Given the description of an element on the screen output the (x, y) to click on. 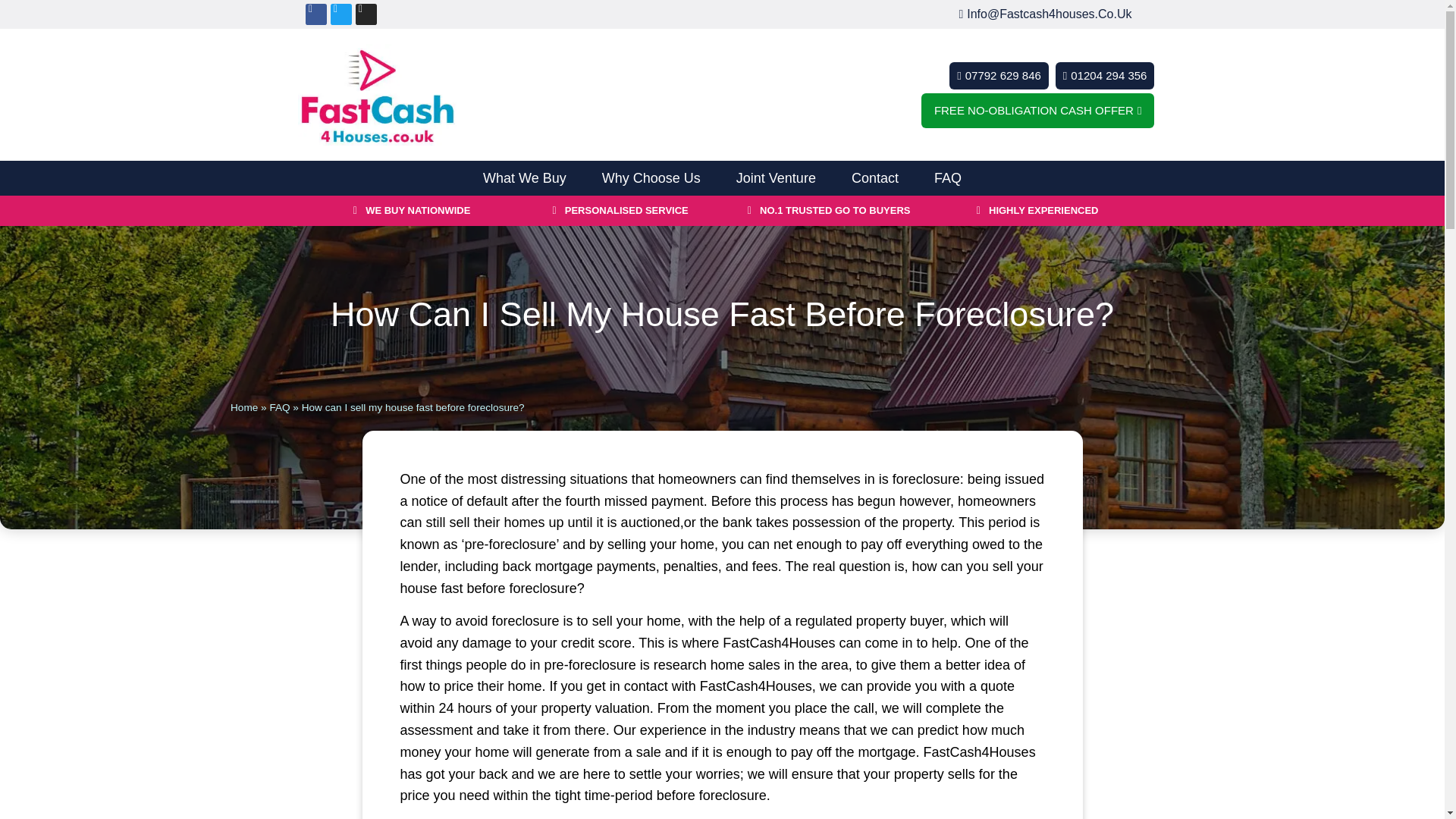
Contact (874, 177)
FAQ (947, 177)
07792 629 846 (998, 75)
Why Choose Us (651, 177)
What We Buy (523, 177)
01204 294 356 (1104, 75)
FREE NO-OBLIGATION CASH OFFER (1037, 110)
Joint Venture (775, 177)
